Given the description of an element on the screen output the (x, y) to click on. 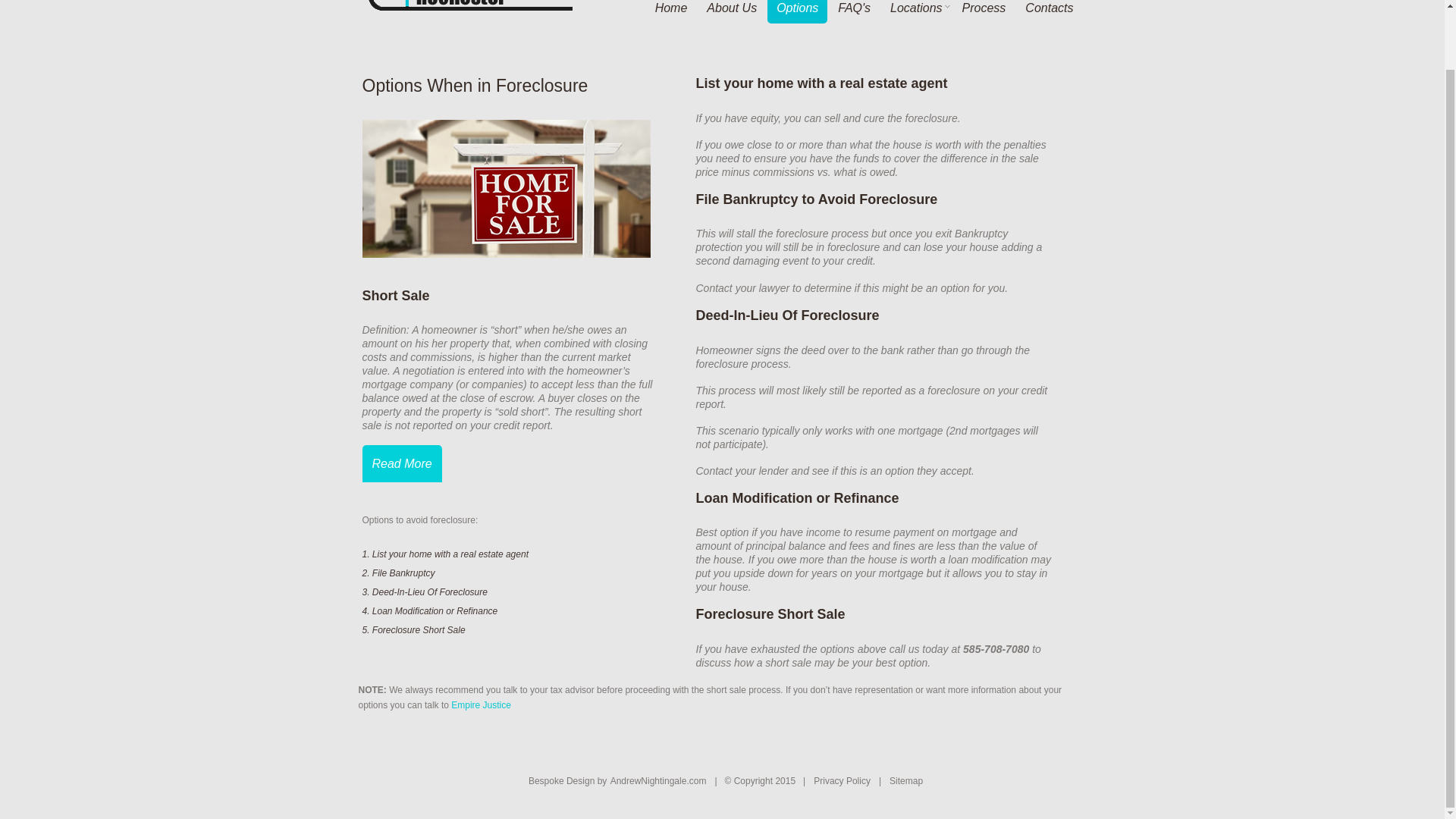
Options (797, 11)
FAQ's (853, 11)
Privacy Policy (840, 780)
Read More (402, 463)
Contacts (1048, 11)
Empire Justice (481, 705)
Avoid Foreclosure Rochester.com (471, 5)
Sitemap (904, 780)
Process (983, 11)
Locations (916, 11)
